Given the description of an element on the screen output the (x, y) to click on. 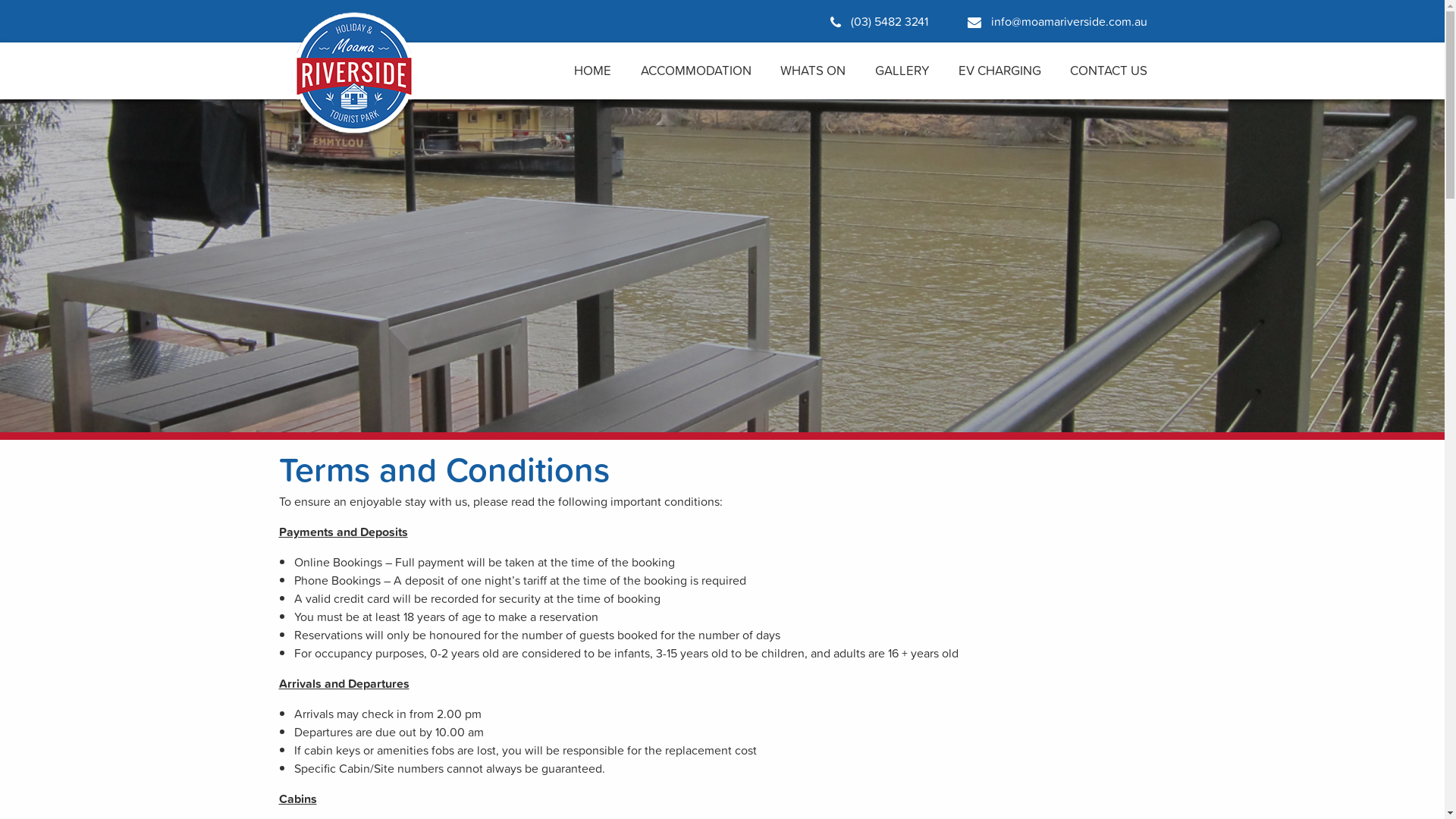
ACCOMMODATION Element type: text (695, 70)
(03) 5482 3241 Element type: text (878, 21)
EV CHARGING Element type: text (999, 70)
GALLERY Element type: text (901, 70)
CONTACT US Element type: text (1108, 70)
WHATS ON Element type: text (812, 70)
HOME Element type: text (592, 70)
info@moamariverside.com.au Element type: text (1057, 21)
